Given the description of an element on the screen output the (x, y) to click on. 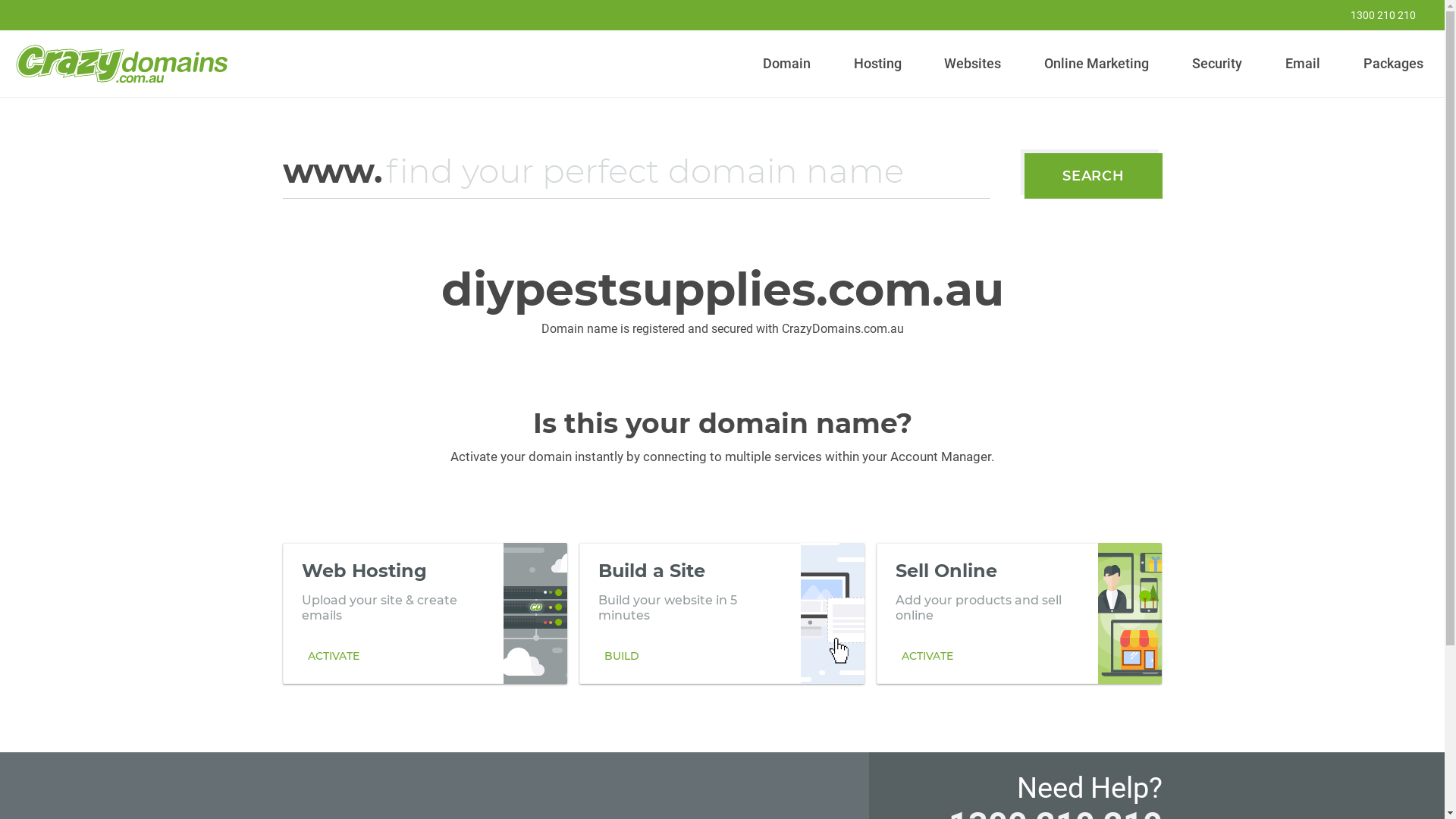
Online Marketing Element type: text (1096, 63)
Email Element type: text (1302, 63)
SEARCH Element type: text (1092, 175)
Web Hosting
Upload your site & create emails
ACTIVATE Element type: text (424, 613)
Packages Element type: text (1392, 63)
Security Element type: text (1217, 63)
Sell Online
Add your products and sell online
ACTIVATE Element type: text (1018, 613)
1300 210 210 Element type: text (1373, 15)
Build a Site
Build your website in 5 minutes
BUILD Element type: text (721, 613)
Hosting Element type: text (877, 63)
Websites Element type: text (972, 63)
Domain Element type: text (786, 63)
